Given the description of an element on the screen output the (x, y) to click on. 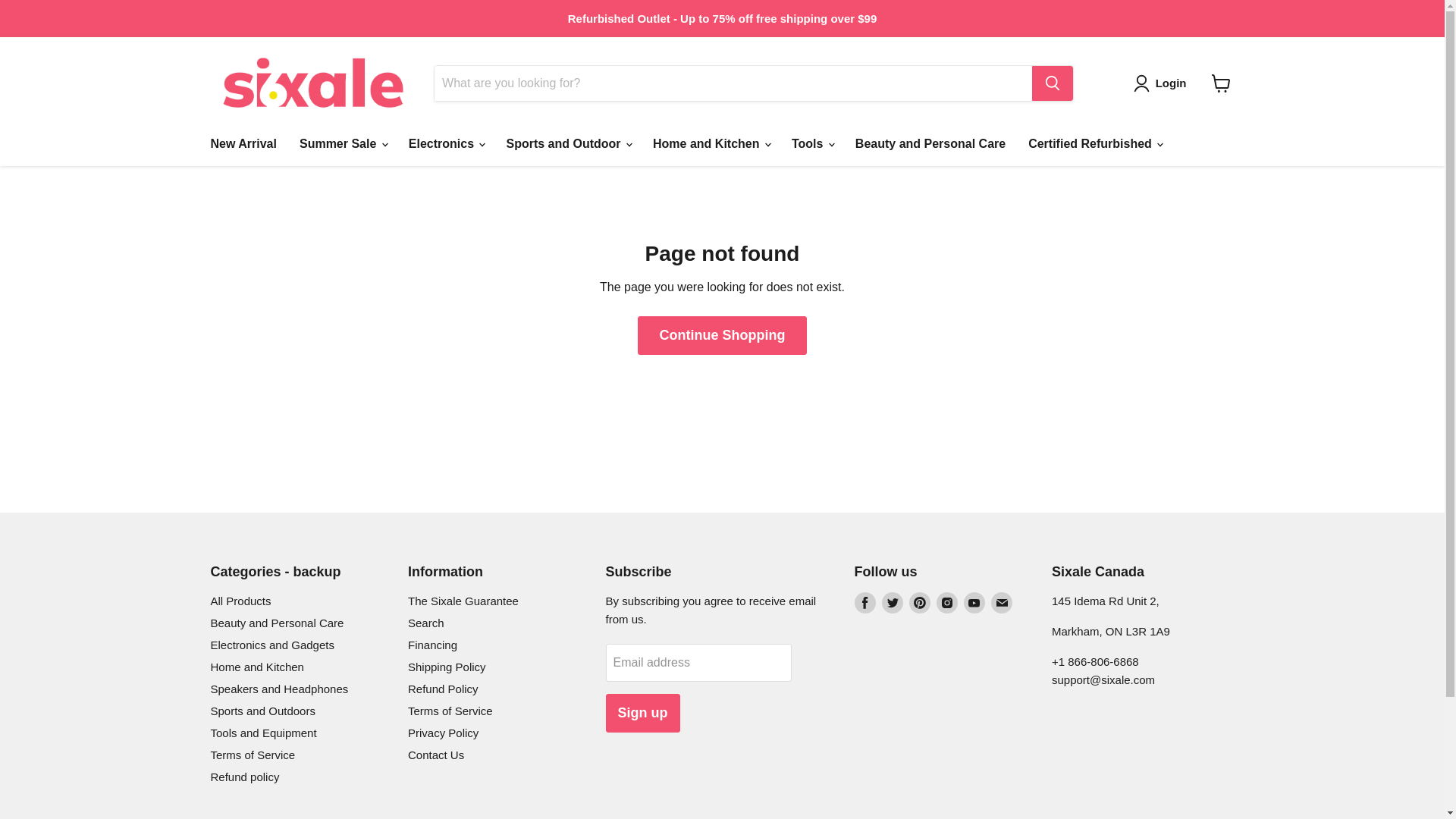
Login (1171, 83)
Pinterest (919, 602)
Facebook (864, 602)
View cart (1221, 82)
Instagram (946, 602)
Youtube (973, 602)
New Arrival (242, 143)
Email (1000, 602)
Twitter (891, 602)
